Given the description of an element on the screen output the (x, y) to click on. 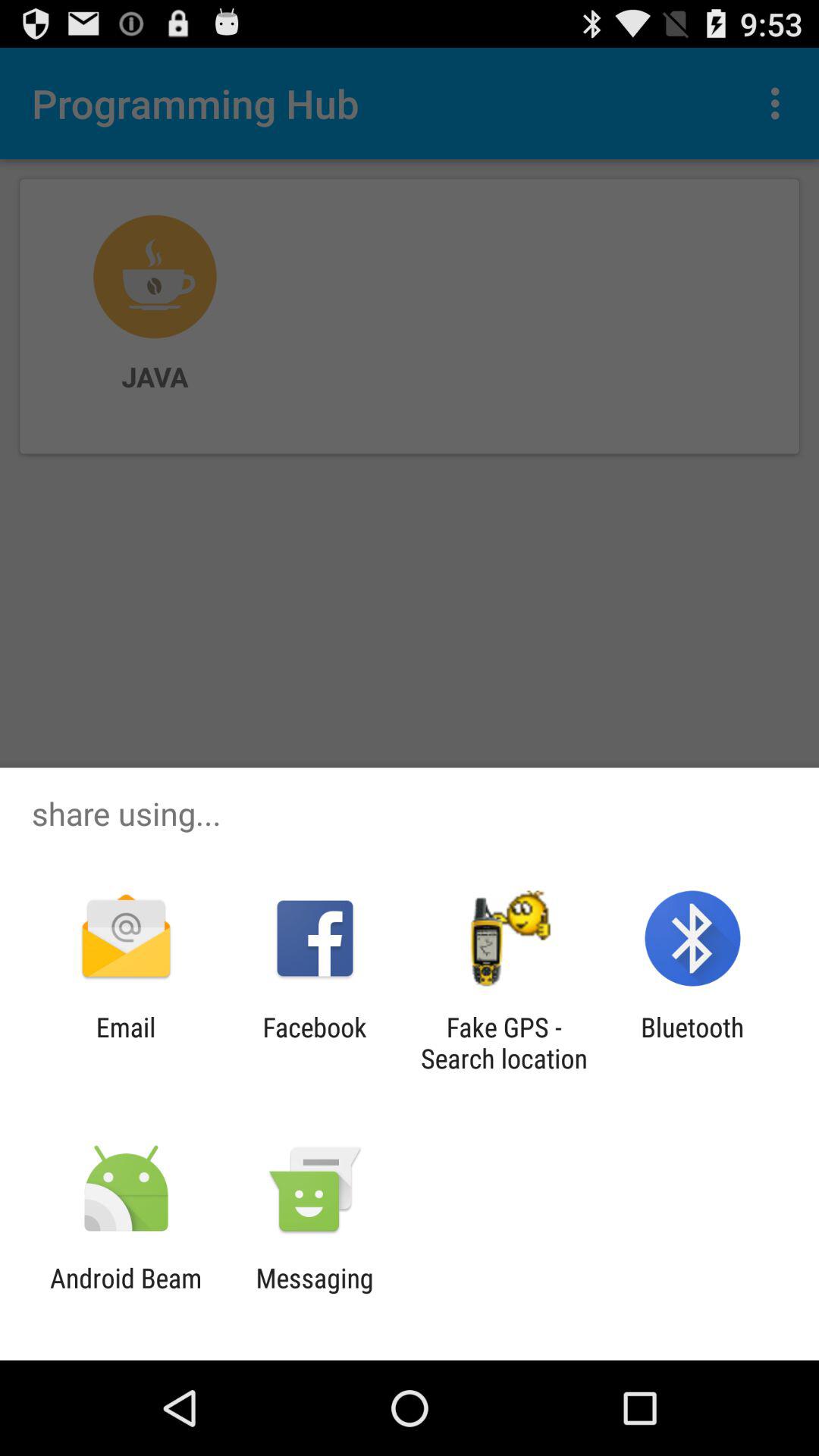
open item next to the fake gps search app (314, 1042)
